Given the description of an element on the screen output the (x, y) to click on. 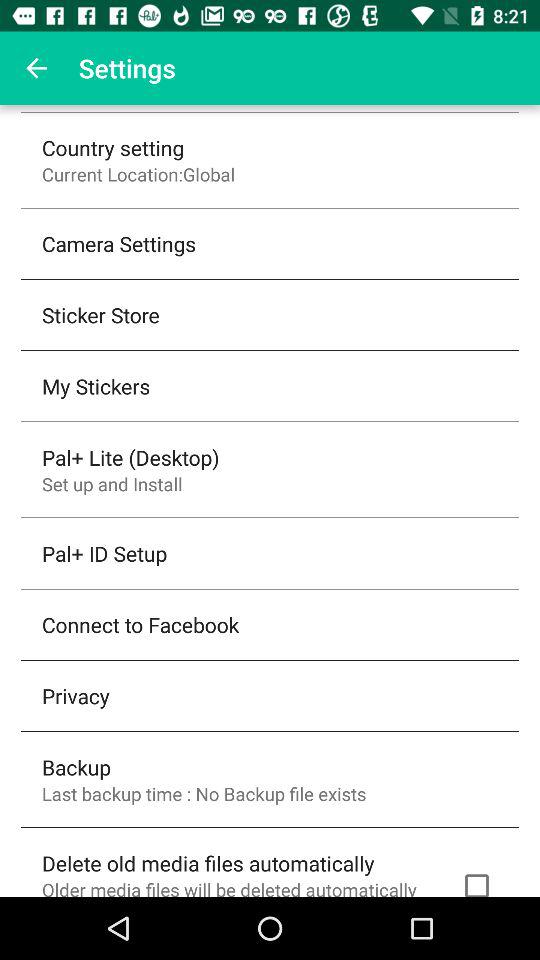
turn on sticker store icon (100, 314)
